Given the description of an element on the screen output the (x, y) to click on. 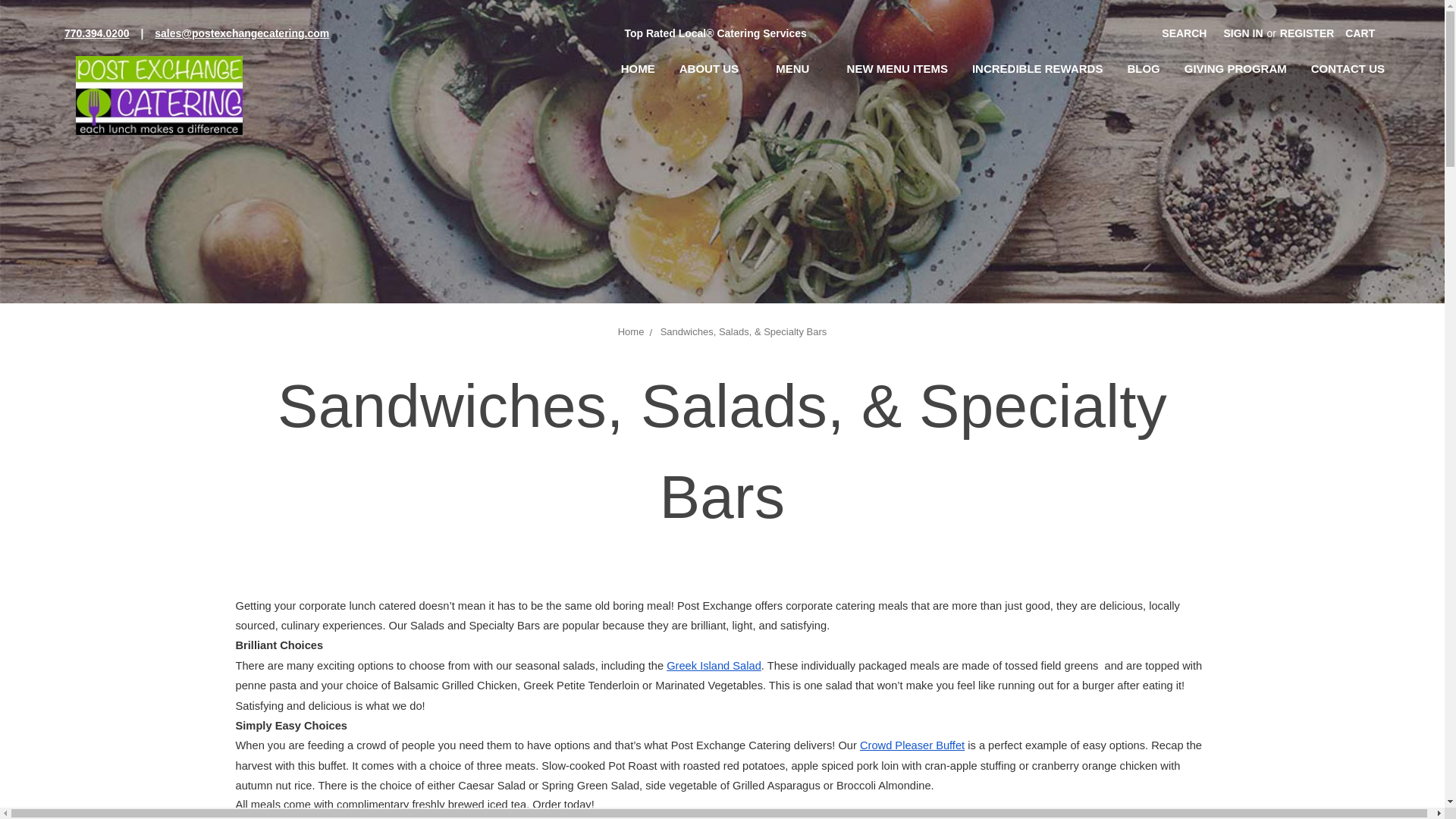
HOME (637, 70)
CART (1359, 33)
SIGN IN (1242, 33)
770.394.0200 (97, 32)
Post Exchange Catering Online Ordering (159, 95)
MENU (798, 70)
SEARCH (1183, 33)
ABOUT US (714, 70)
REGISTER (1306, 33)
